Given the description of an element on the screen output the (x, y) to click on. 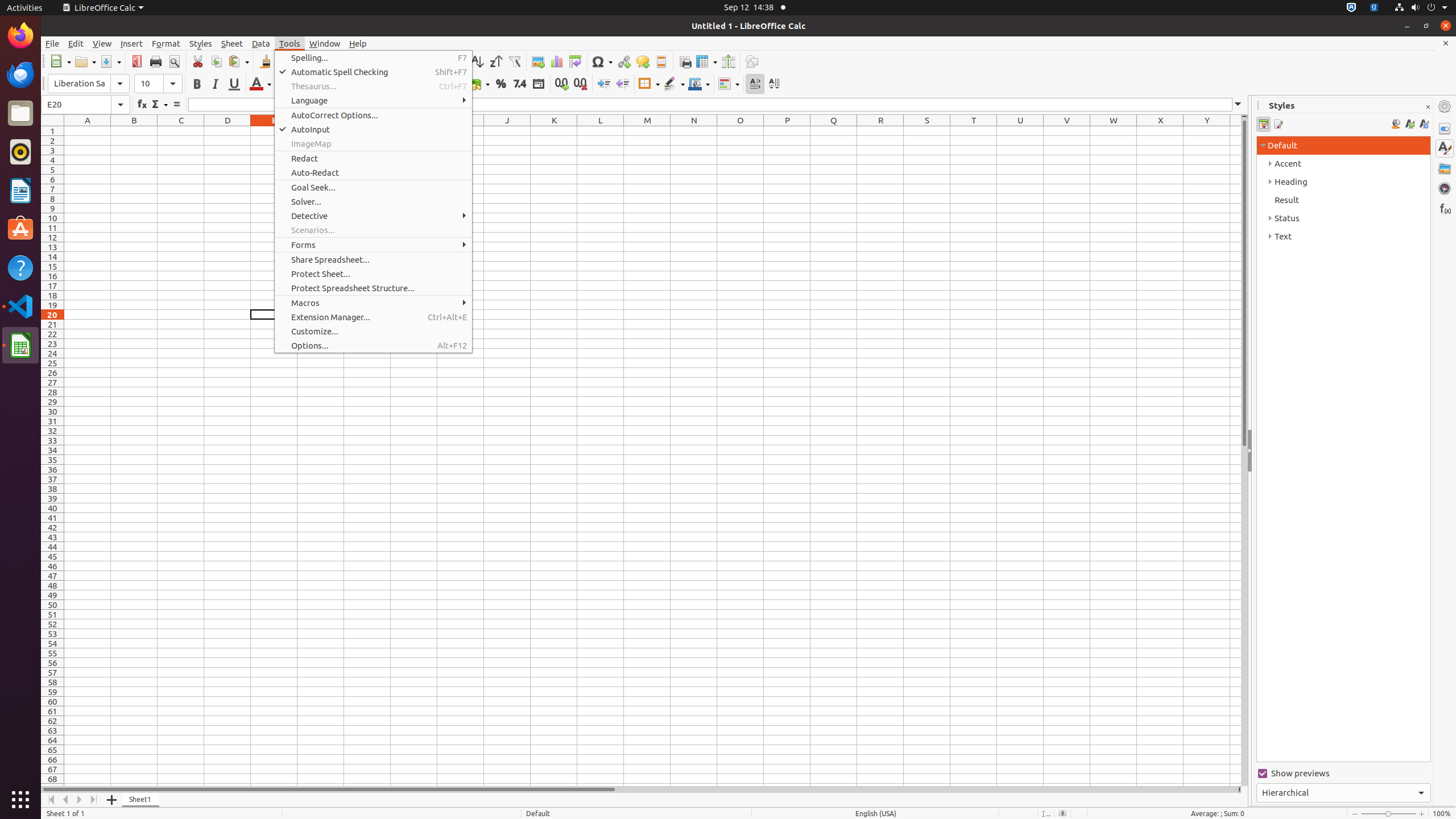
:1.72/StatusNotifierItem Element type: menu (1350, 7)
Clone Element type: push-button (264, 61)
AutoCorrect Options... Element type: menu-item (373, 115)
Move To Home Element type: push-button (51, 799)
New Element type: push-button (59, 61)
